Given the description of an element on the screen output the (x, y) to click on. 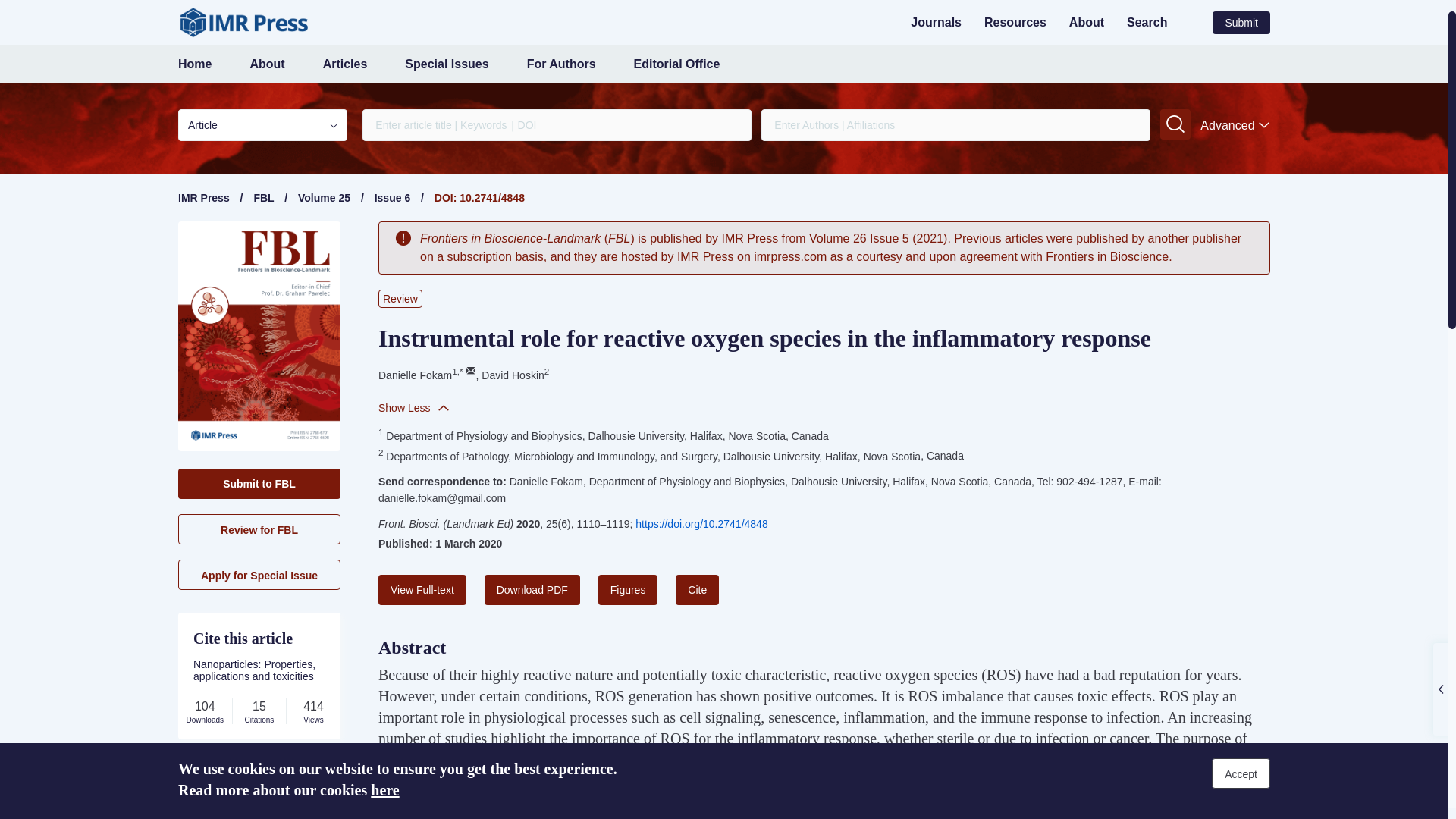
Home (194, 63)
Articles (345, 63)
About (1085, 21)
About (265, 63)
Journals (935, 21)
Resources (1015, 21)
Search (1146, 21)
